Given the description of an element on the screen output the (x, y) to click on. 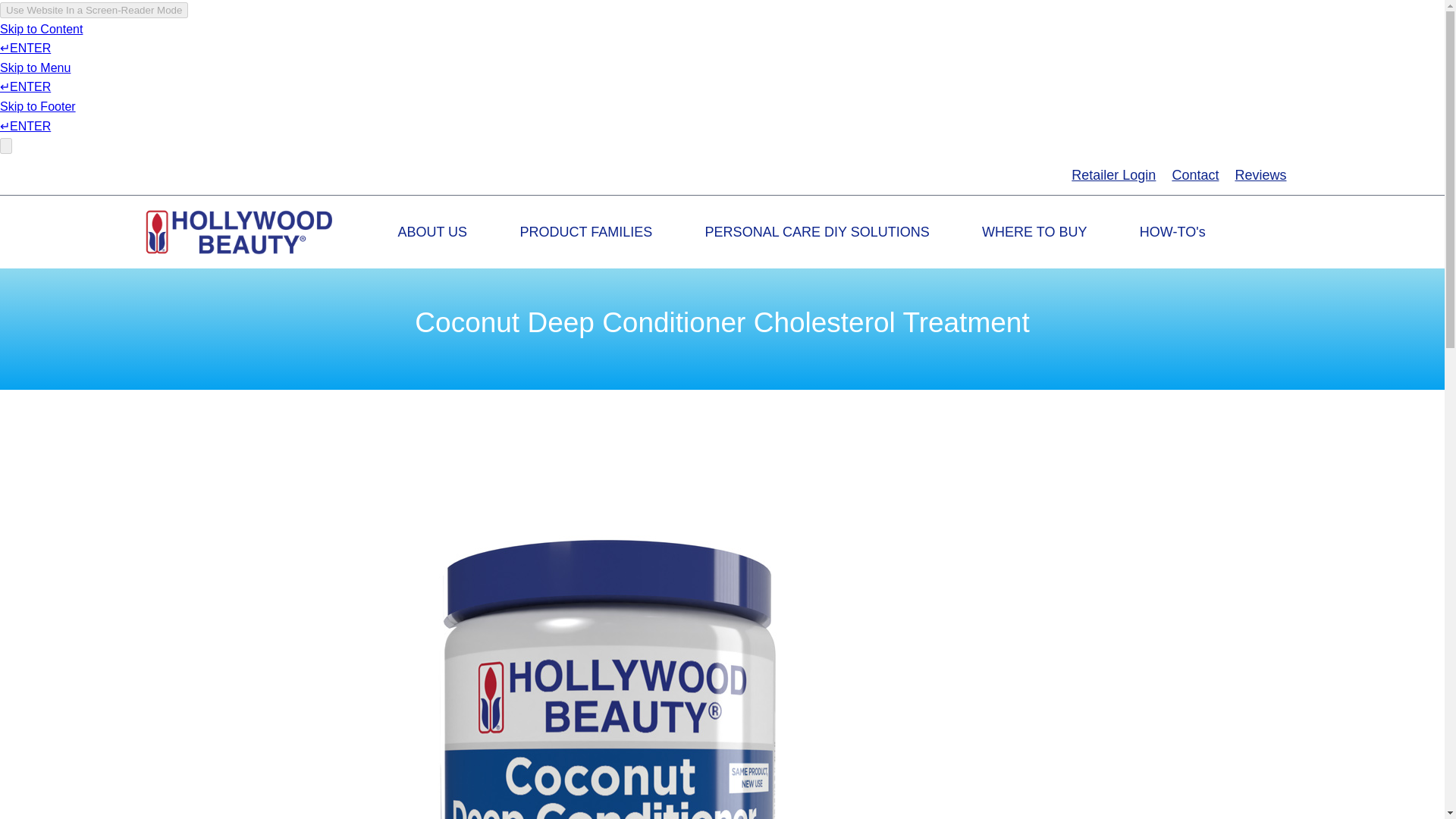
Contact (1195, 174)
PERSONAL CARE DIY SOLUTIONS (817, 231)
Reviews (1259, 174)
WHERE TO BUY (1033, 232)
ABOUT US (432, 231)
Retailer Login (1113, 174)
PRODUCT FAMILIES (585, 231)
HOW-TO's (1172, 231)
